Given the description of an element on the screen output the (x, y) to click on. 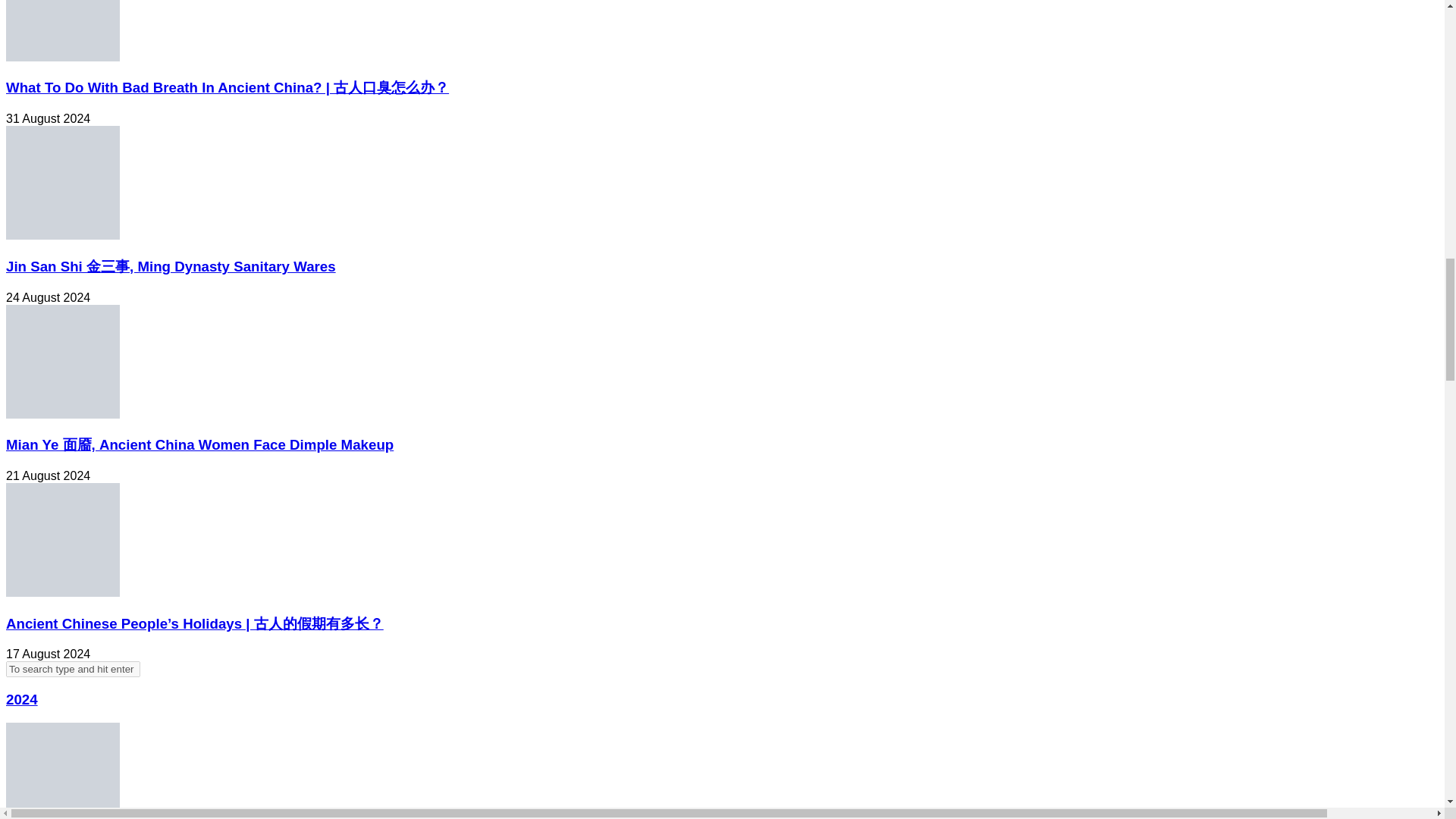
2024 (21, 699)
To search type and hit enter (72, 668)
To search type and hit enter (72, 668)
